Given the description of an element on the screen output the (x, y) to click on. 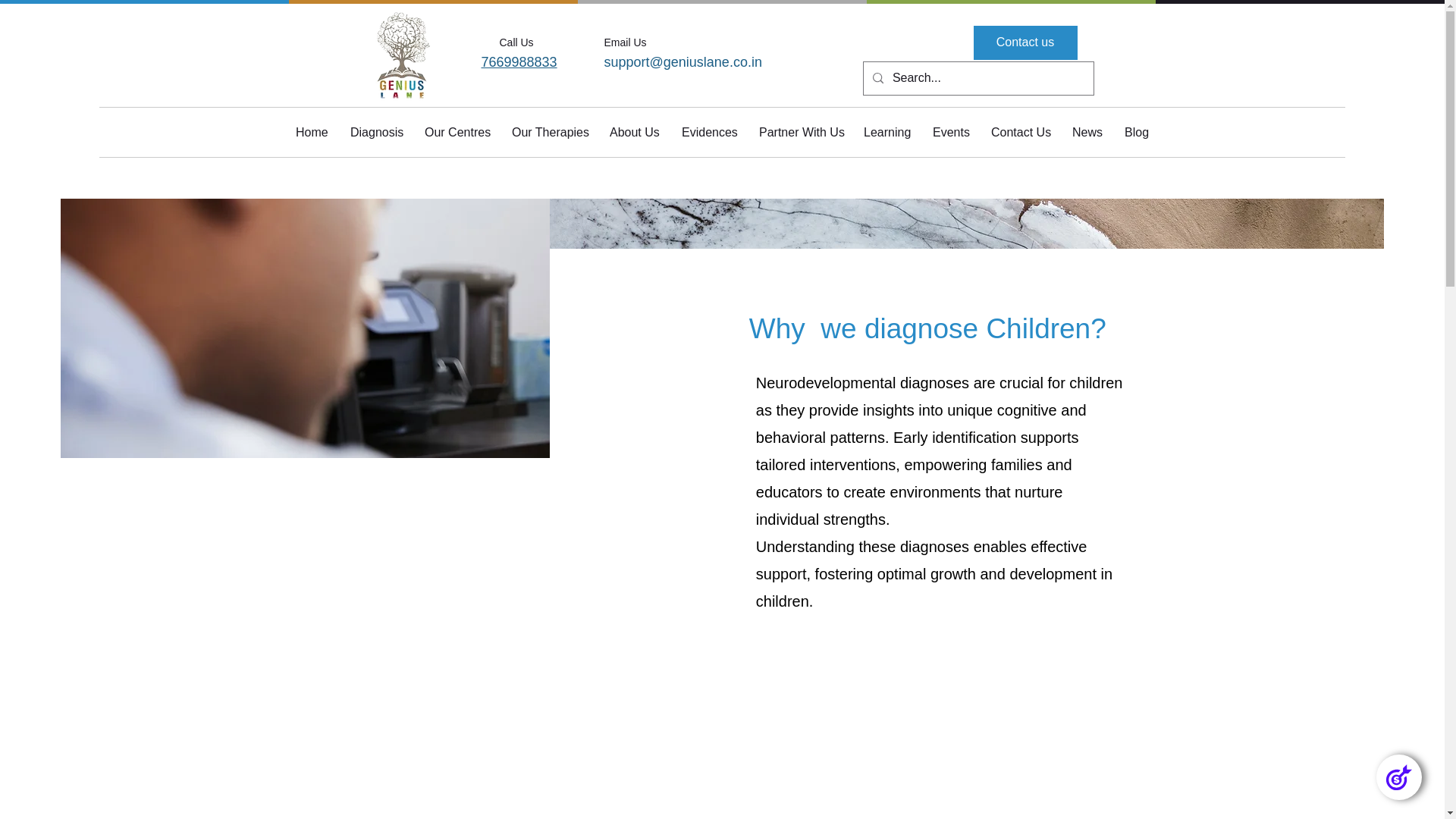
7669988833 (518, 61)
Our Centres (456, 132)
Partner With Us (799, 132)
Contact Us (1020, 132)
Diagnosis (376, 132)
Events (950, 132)
Contact us (1025, 42)
Blog (1136, 132)
Evidences (708, 132)
Learning (886, 132)
Home (311, 132)
About Us (633, 132)
News (1087, 132)
Our Therapies (549, 132)
